Given the description of an element on the screen output the (x, y) to click on. 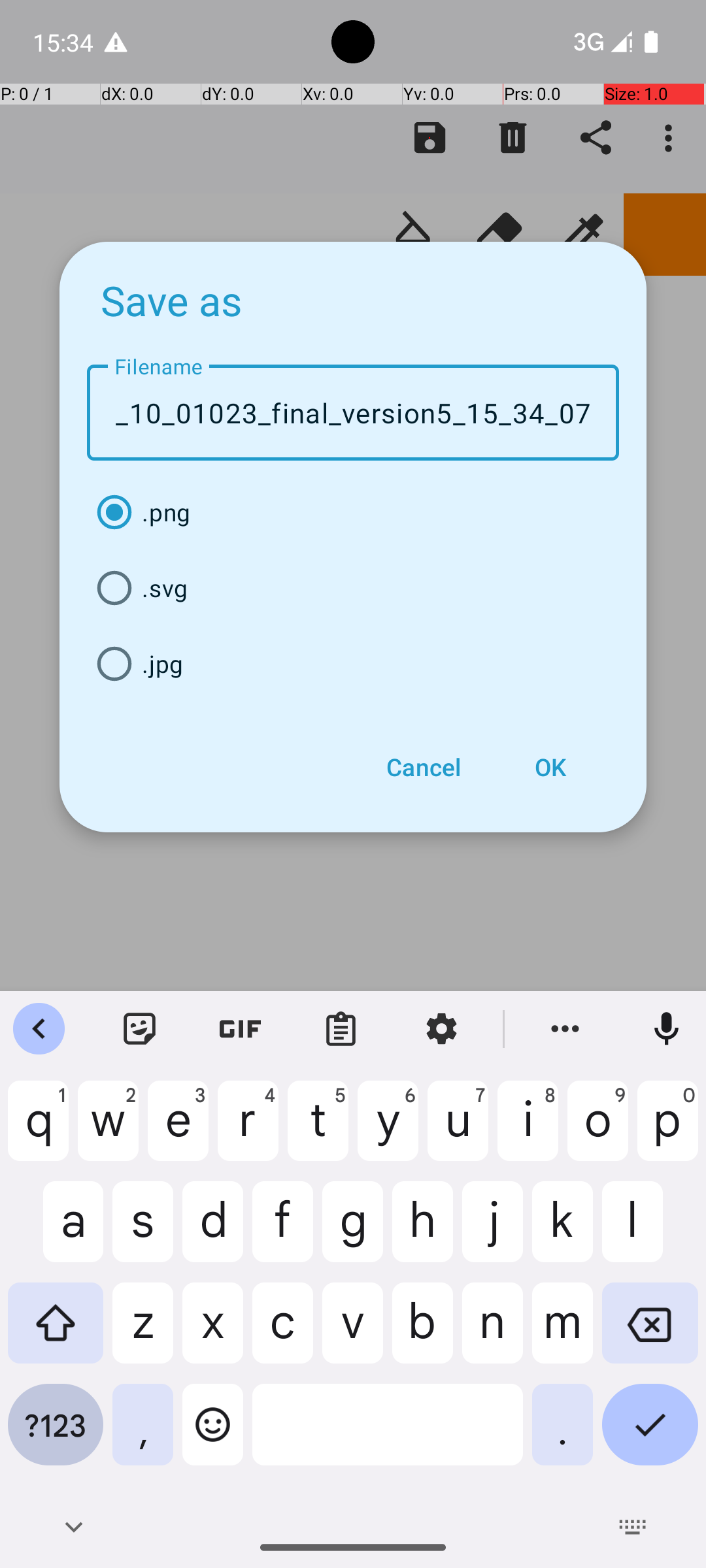
Save as Element type: android.widget.TextView (171, 299)
image_2023_10_1image_draw_2final_version_drawing_2023_10_01023_final_version5_15_34_07 Element type: android.widget.EditText (352, 412)
.png Element type: android.widget.RadioButton (352, 512)
.svg Element type: android.widget.RadioButton (352, 587)
.jpg Element type: android.widget.RadioButton (352, 663)
